Given the description of an element on the screen output the (x, y) to click on. 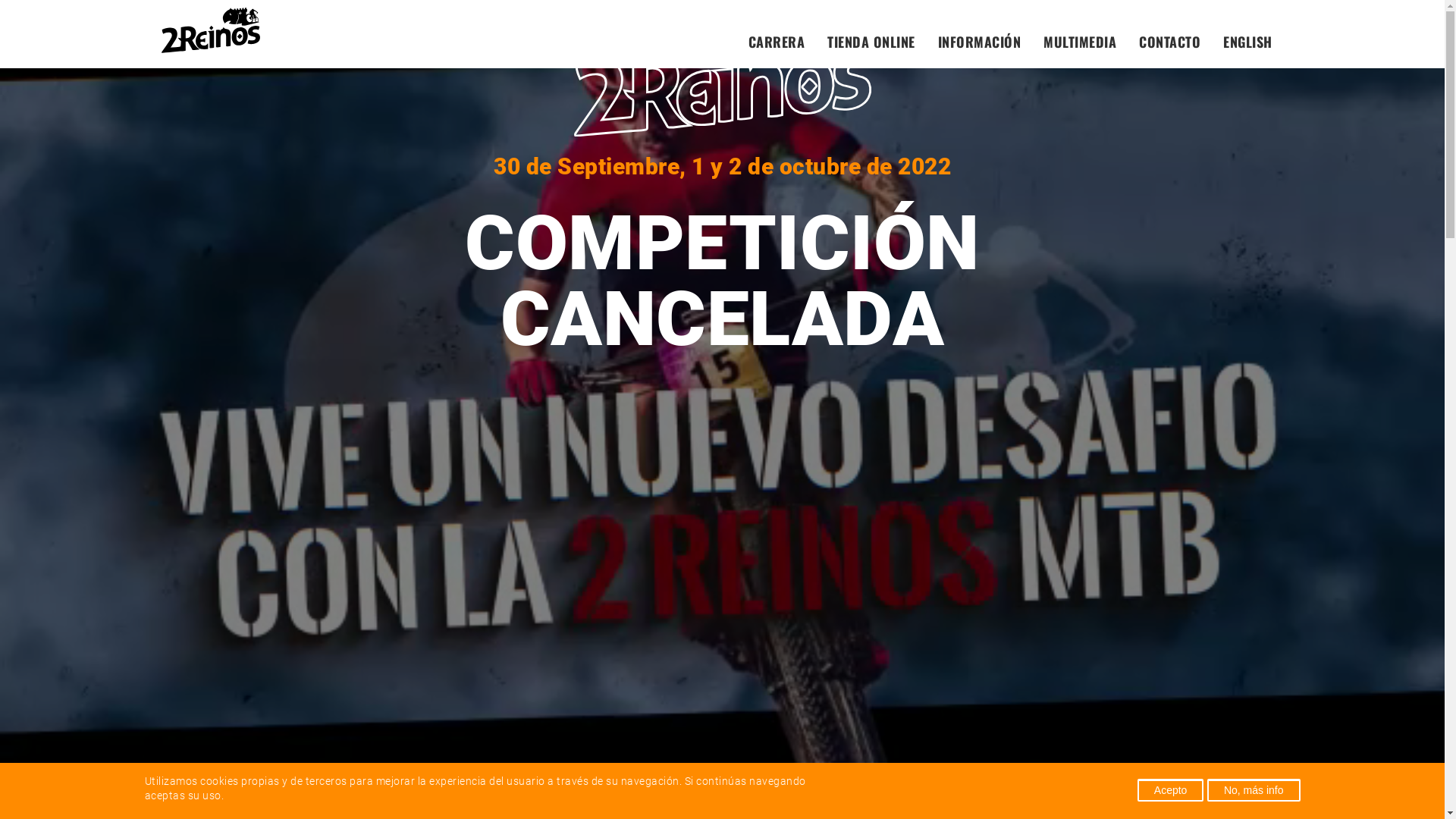
Skip to main content Element type: text (683, 1)
CONTACTO Element type: text (1169, 41)
Acepto Element type: text (1170, 789)
TIENDA ONLINE Element type: text (871, 41)
